Given the description of an element on the screen output the (x, y) to click on. 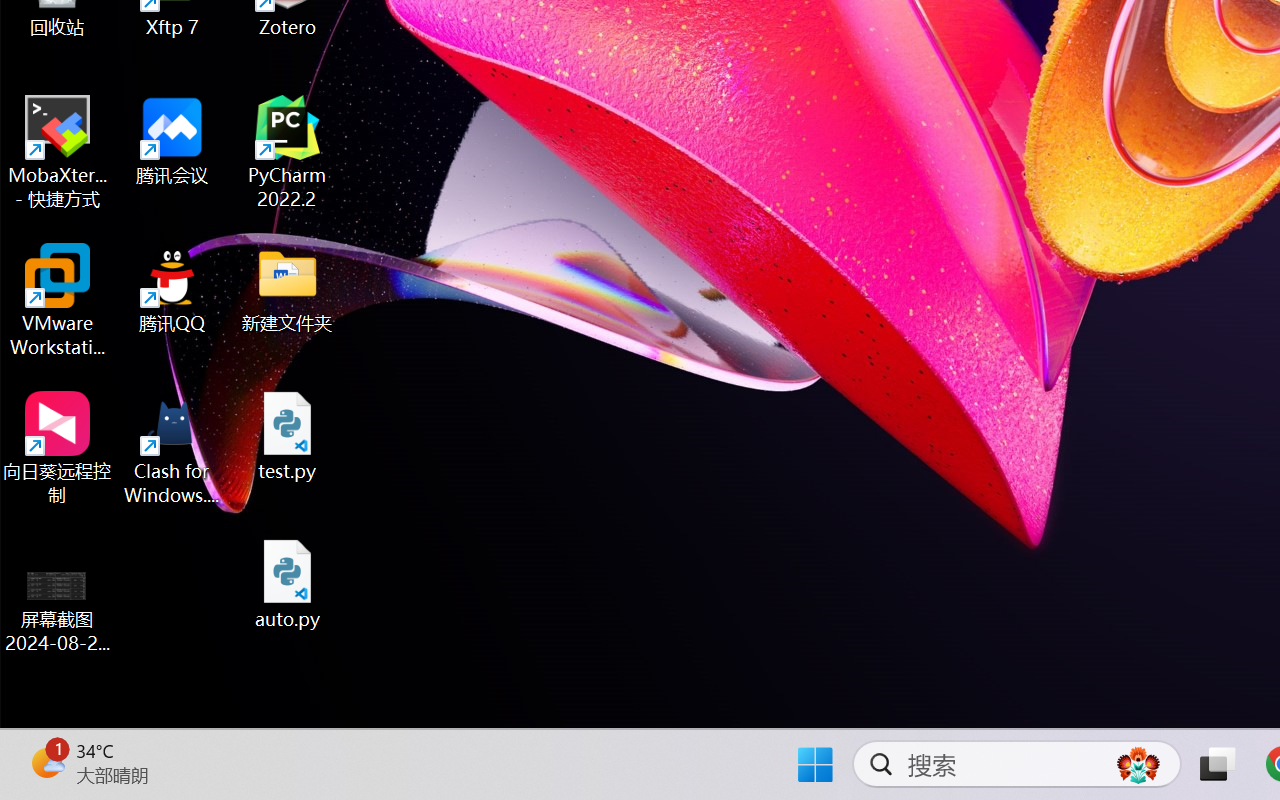
test.py (287, 436)
auto.py (287, 584)
VMware Workstation Pro (57, 300)
